Given the description of an element on the screen output the (x, y) to click on. 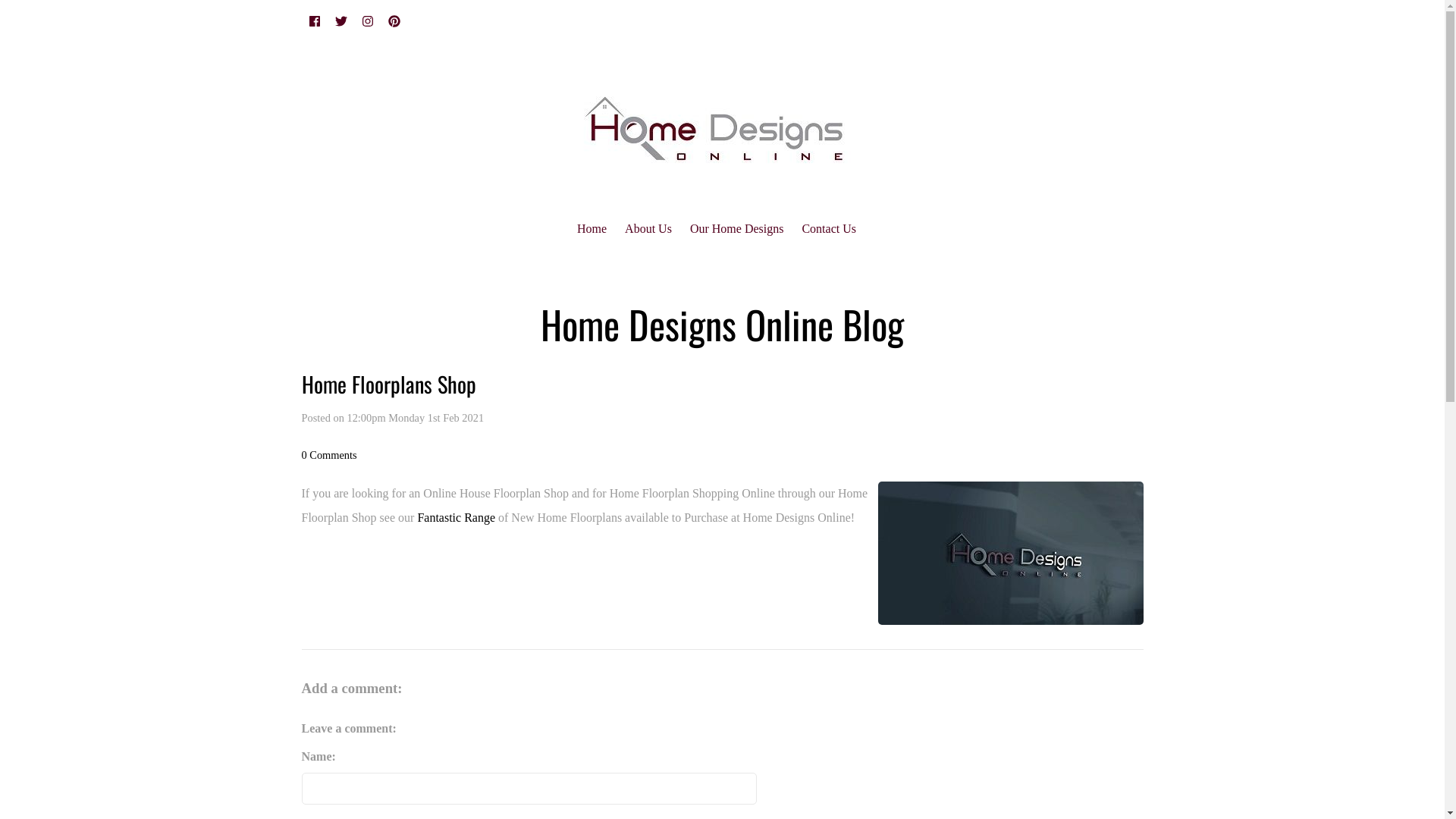
instagram Element type: text (367, 21)
pinterest Element type: text (394, 21)
twitter Element type: text (341, 21)
About Us Element type: text (647, 228)
Our Home Designs Element type: text (736, 228)
facebook Element type: text (314, 21)
Fantastic Range Element type: text (456, 517)
Home Element type: text (591, 228)
Contact Us Element type: text (828, 228)
Logo Gloss 350mm Element type: hover (1010, 552)
0 Comments Element type: text (329, 454)
